Given the description of an element on the screen output the (x, y) to click on. 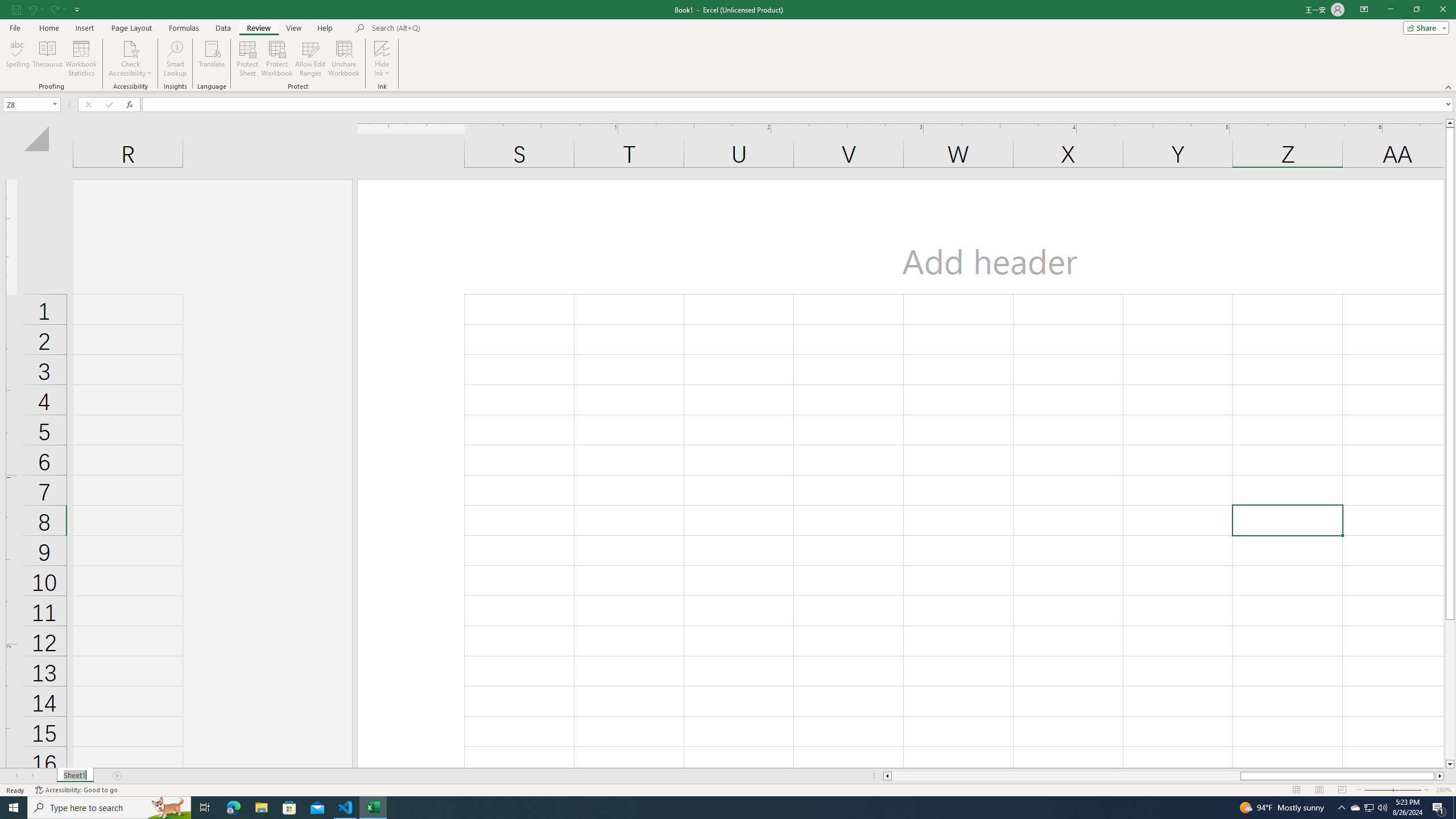
Allow Edit Ranges (310, 58)
Translate (211, 58)
Workbook Statistics (81, 58)
